Given the description of an element on the screen output the (x, y) to click on. 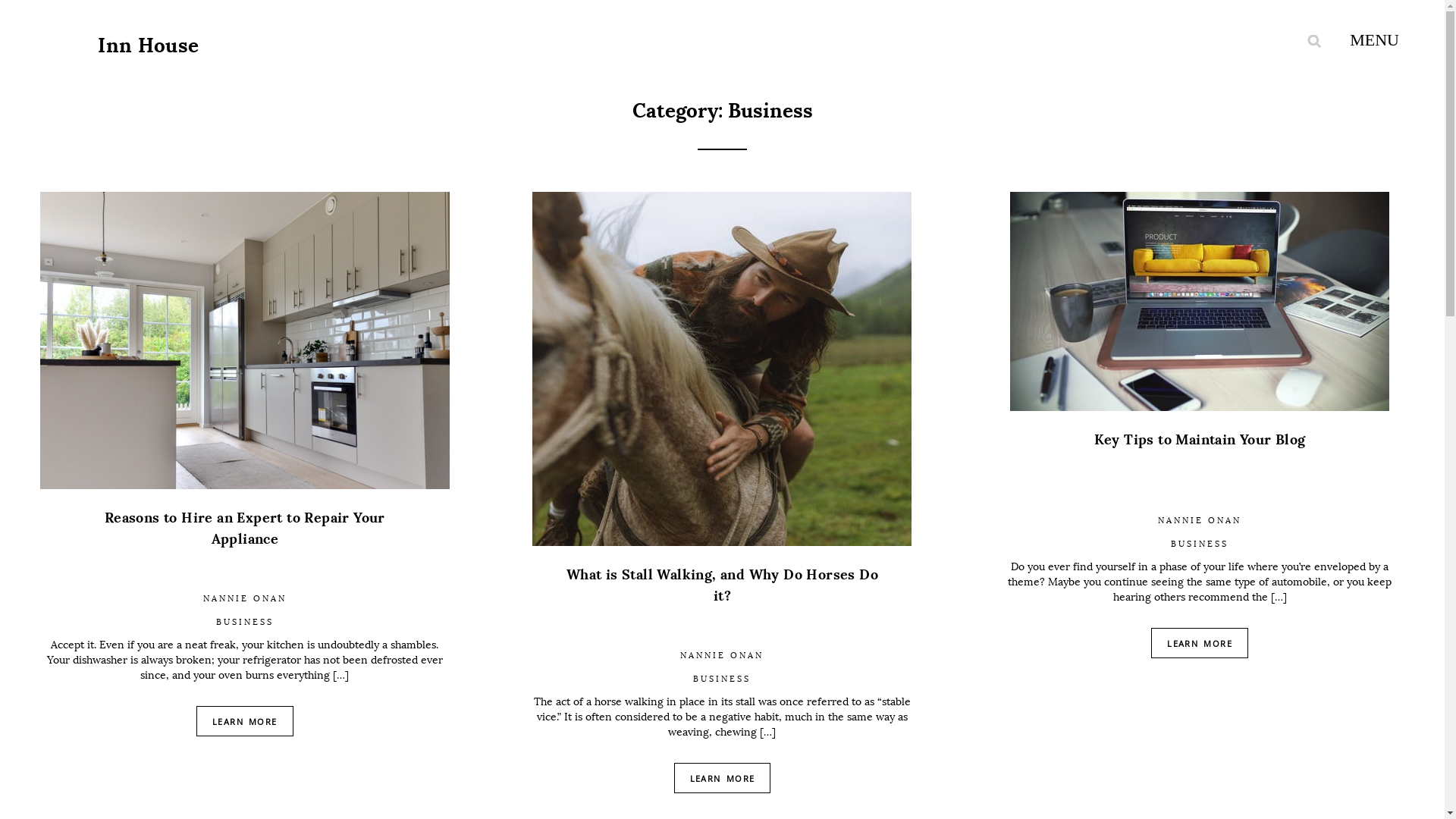
LEARN MORE Element type: text (1199, 642)
LEARN MORE Element type: text (722, 777)
BUSINESS Element type: text (244, 622)
What is Stall Walking, and Why Do Horses Do it? Element type: text (722, 602)
NANNIE ONAN Element type: text (1199, 520)
Key Tips to Maintain Your Blog Element type: text (1199, 467)
NANNIE ONAN Element type: text (721, 655)
NANNIE ONAN Element type: text (244, 598)
BUSINESS Element type: text (721, 679)
Reasons to Hire an Expert to Repair Your Appliance Element type: text (244, 545)
BUSINESS Element type: text (1199, 544)
Inn House Element type: text (148, 44)
LEARN MORE Element type: text (244, 721)
